Given the description of an element on the screen output the (x, y) to click on. 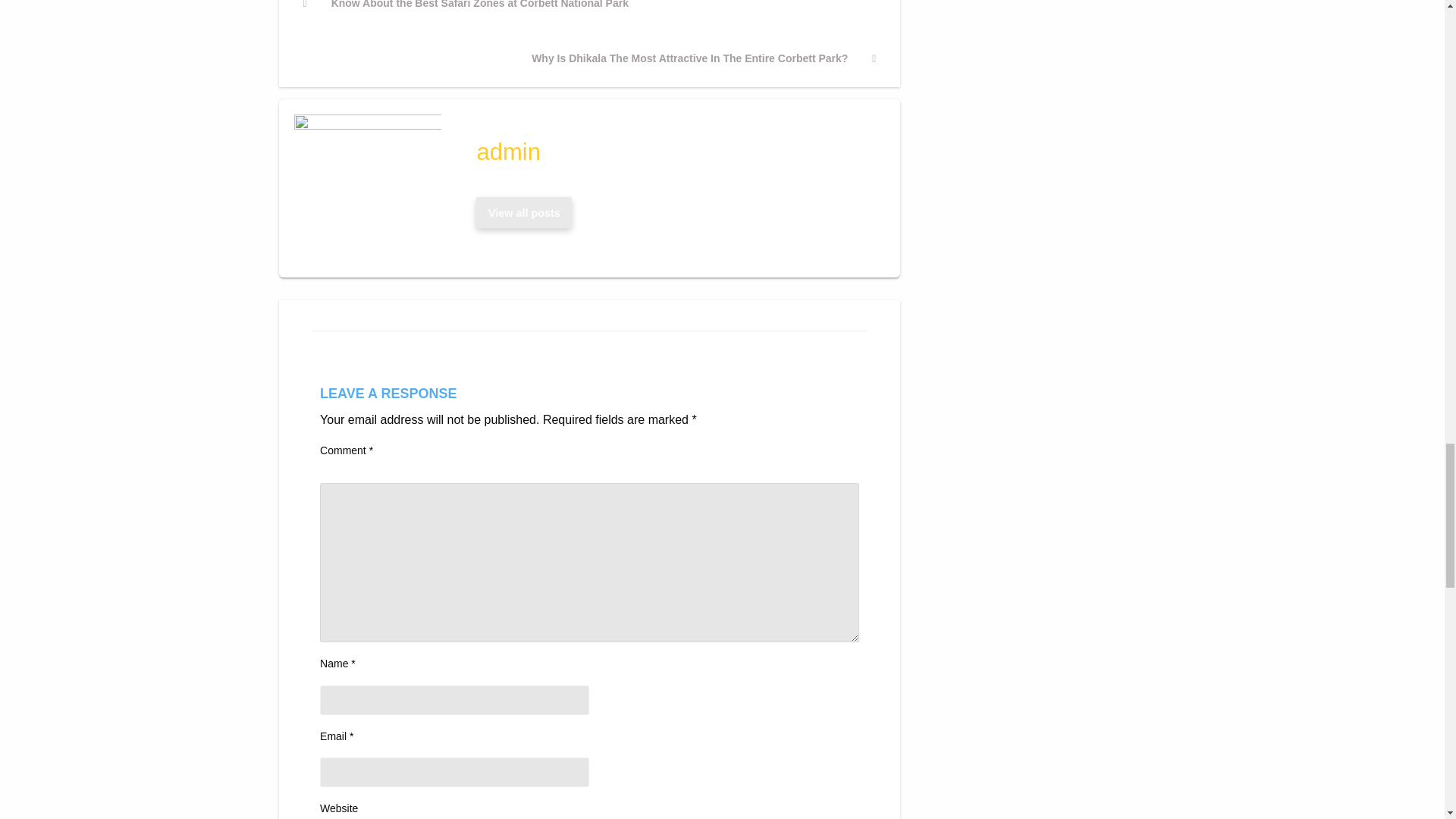
View all posts (524, 212)
admin (523, 213)
View all posts (523, 213)
Know About the Best Safari Zones at Corbett National Park (465, 14)
admin (674, 151)
admin (674, 151)
